Given the description of an element on the screen output the (x, y) to click on. 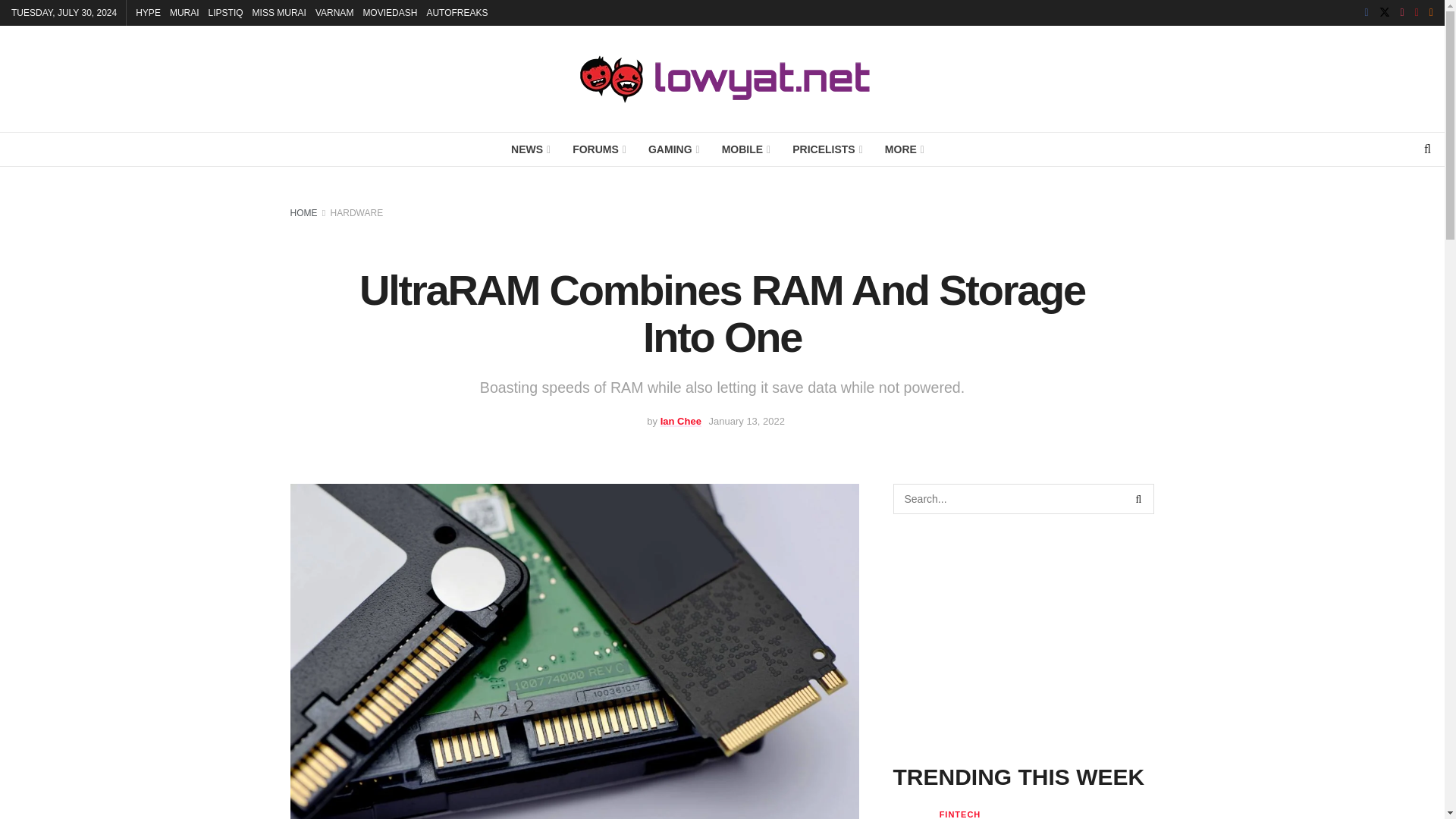
LIPSTIQ (225, 12)
MOVIEDASH (389, 12)
MOBILE (745, 149)
FORUMS (598, 149)
VARNAM (334, 12)
AUTOFREAKS (456, 12)
GAMING (673, 149)
HYPE (147, 12)
NEWS (529, 149)
MURAI (184, 12)
MISS MURAI (278, 12)
